Given the description of an element on the screen output the (x, y) to click on. 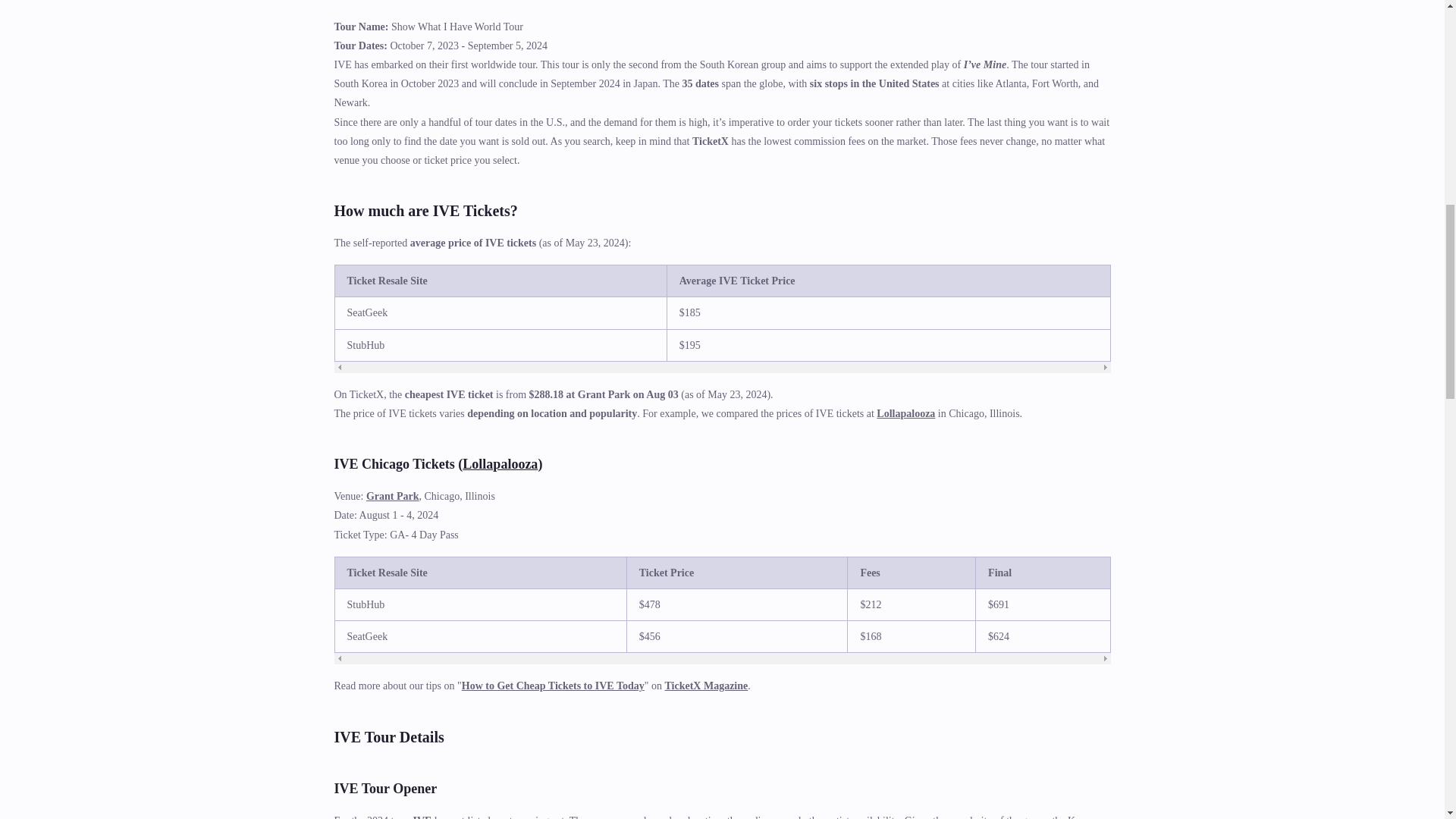
Grant Park (392, 496)
TicketX Magazine (705, 685)
Lollapalooza (500, 463)
How to Get Cheap Tickets to IVE Today (553, 685)
Lollapalooza (905, 413)
